Given the description of an element on the screen output the (x, y) to click on. 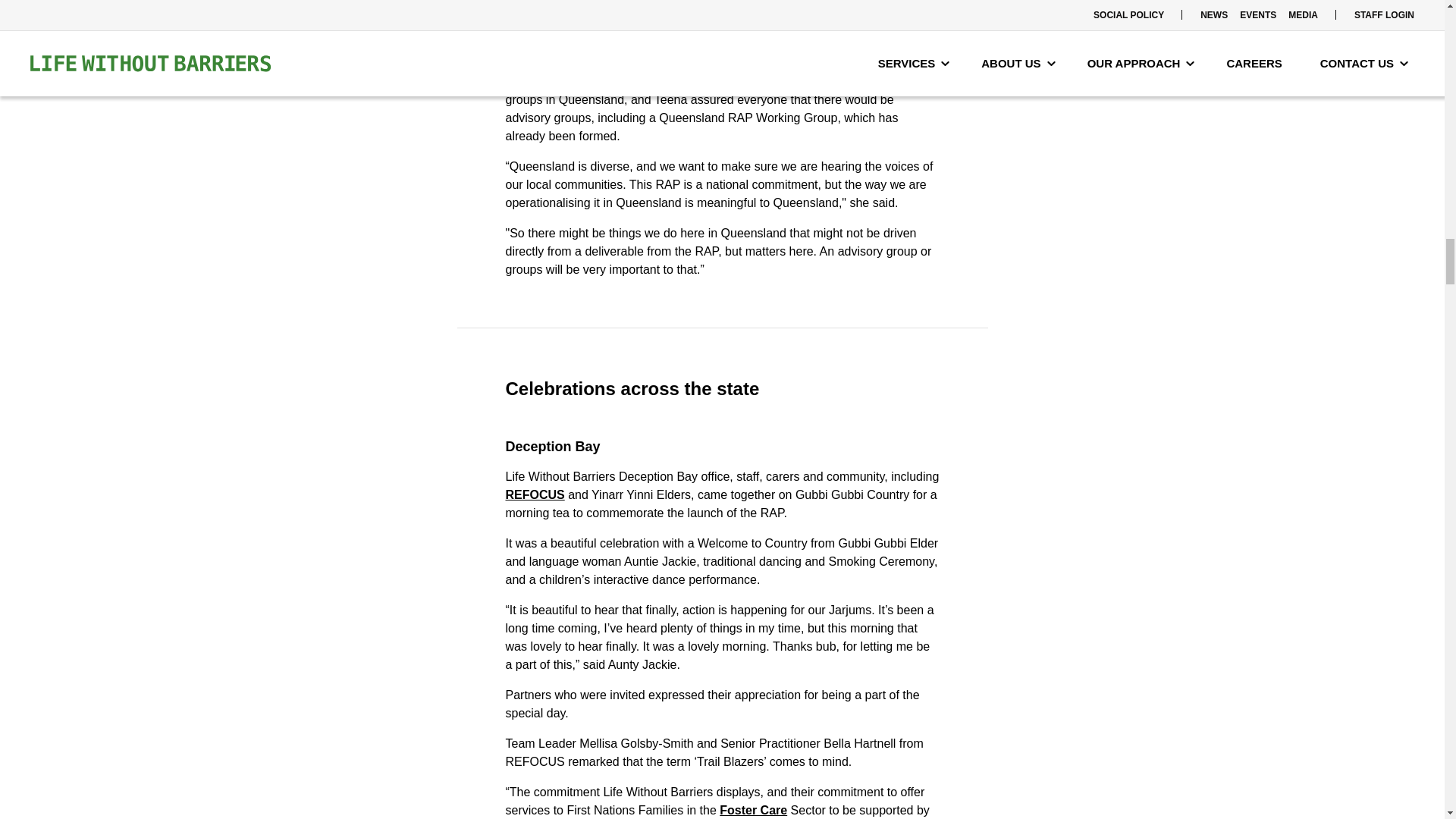
REFOCUS (534, 494)
Foster Care (753, 809)
